Given the description of an element on the screen output the (x, y) to click on. 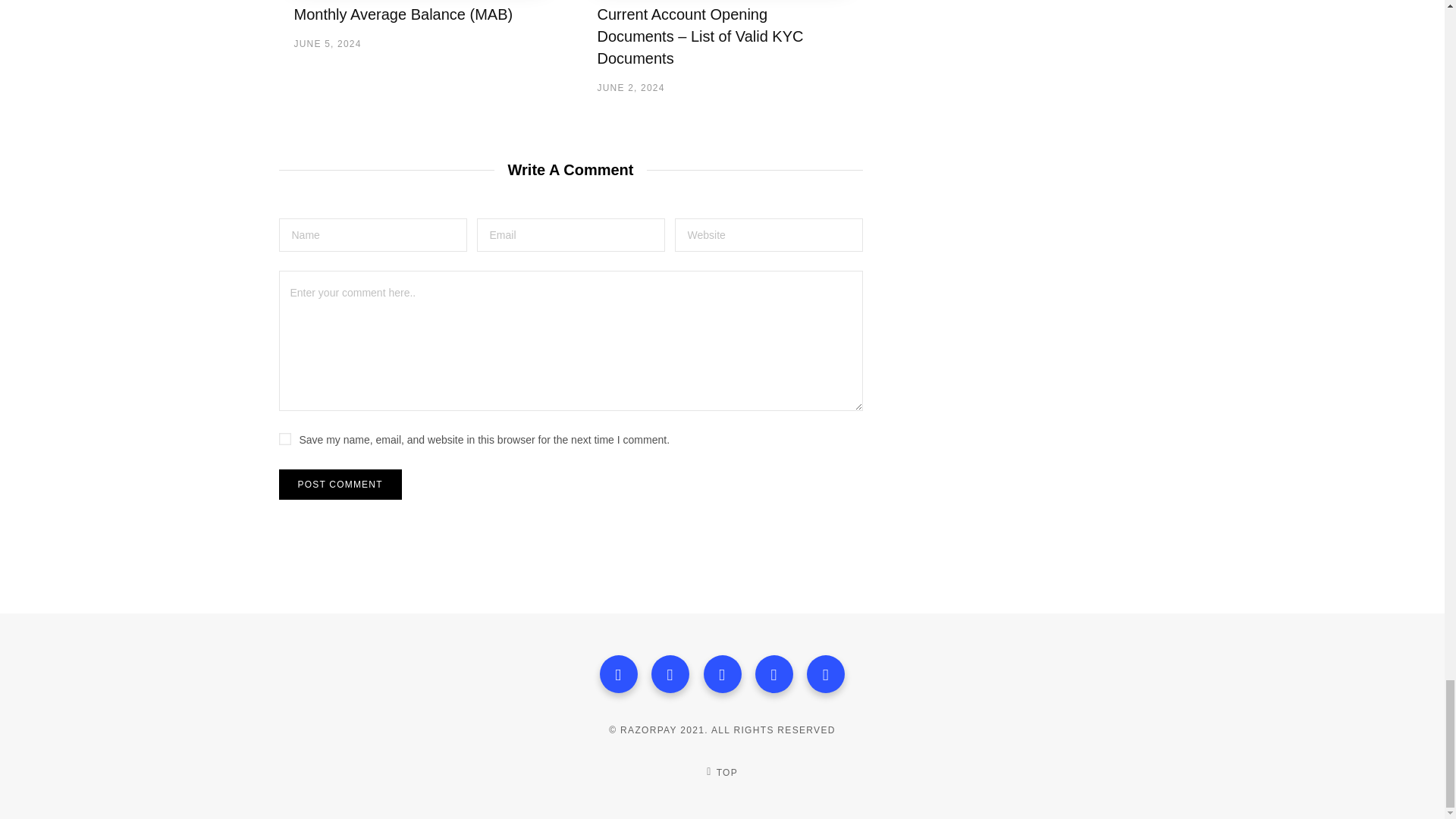
Post Comment (340, 484)
yes (285, 439)
